Given the description of an element on the screen output the (x, y) to click on. 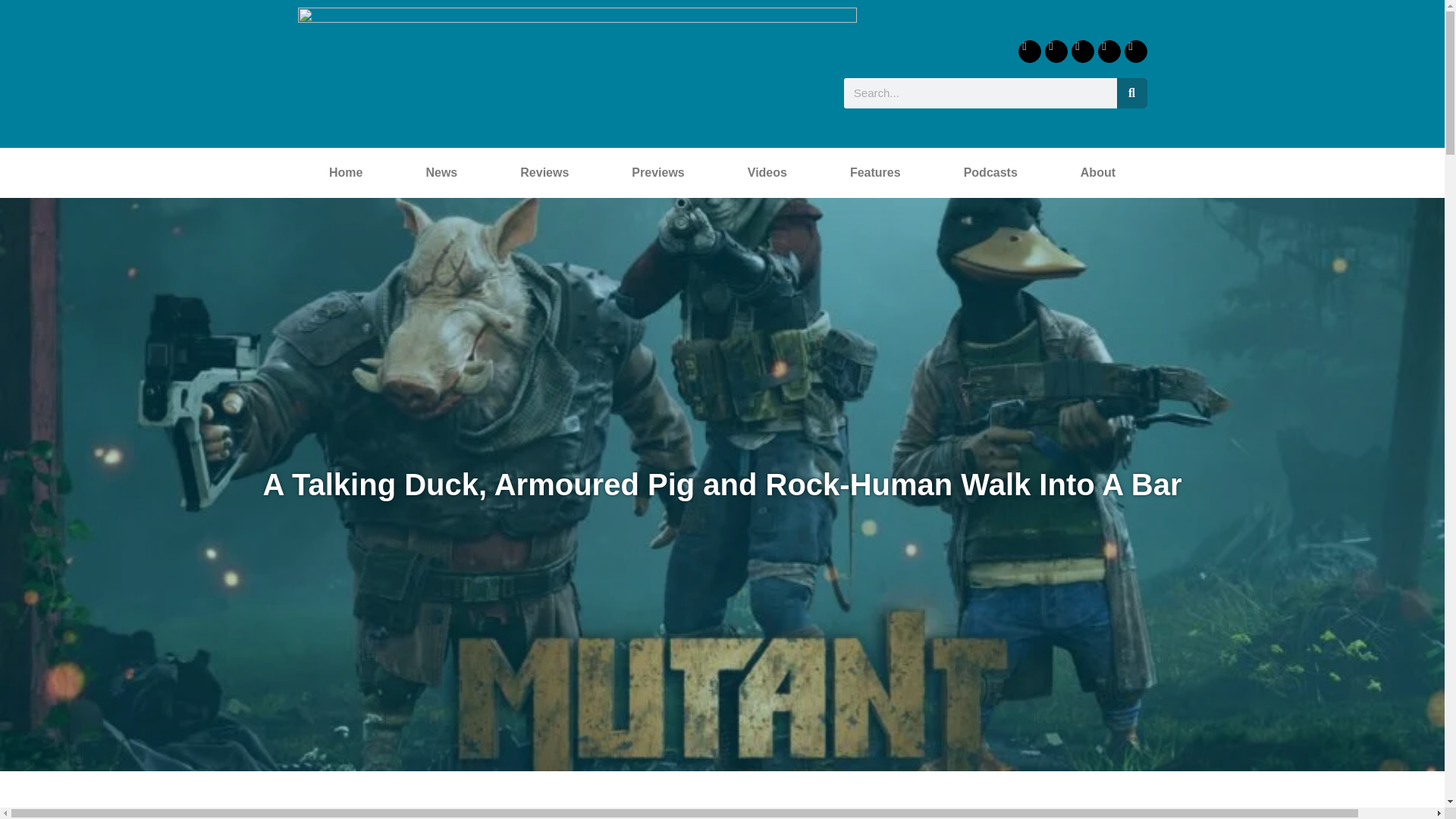
Previews (657, 172)
Podcasts (989, 172)
Videos (767, 172)
Home (345, 172)
About (1097, 172)
Features (874, 172)
Reviews (544, 172)
News (441, 172)
